Given the description of an element on the screen output the (x, y) to click on. 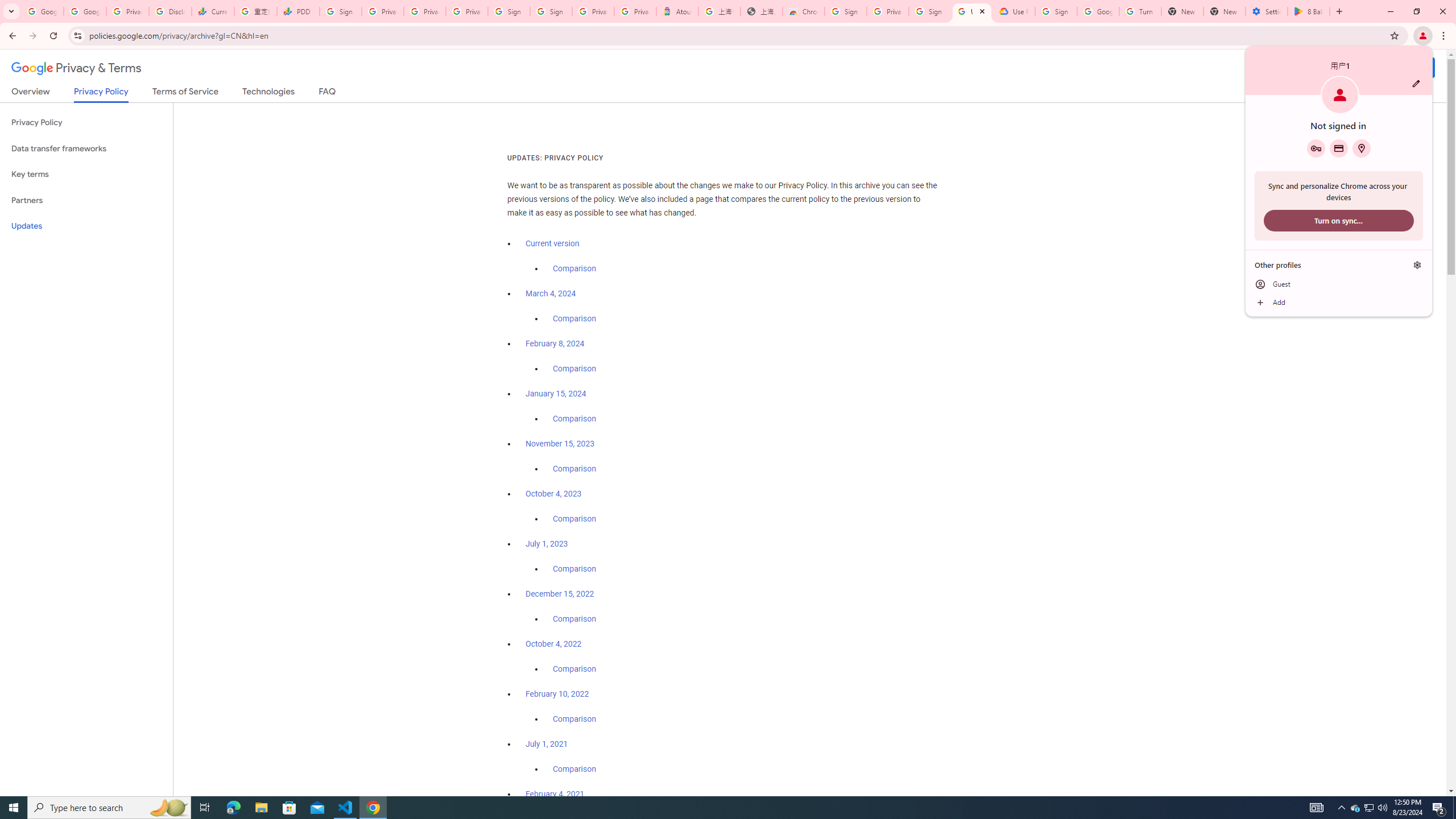
July 1, 2021 (546, 743)
January 15, 2024 (555, 394)
Task View (204, 807)
View site information (77, 35)
Payment methods (1338, 148)
Notification Chevron (1341, 807)
File Explorer (261, 807)
Microsoft Store (1368, 807)
Guest (289, 807)
Key terms (1338, 284)
Microsoft Edge (86, 174)
